Given the description of an element on the screen output the (x, y) to click on. 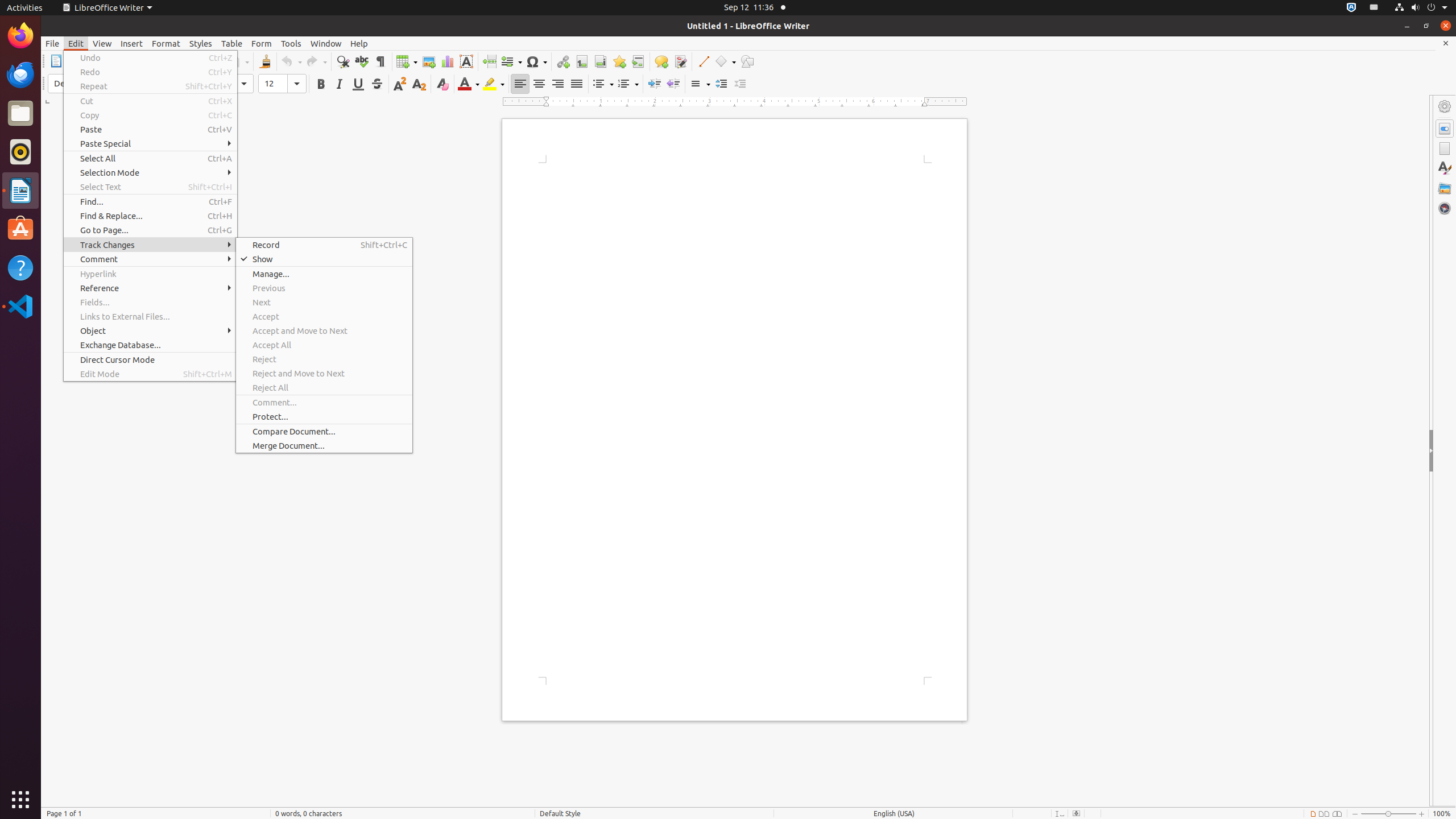
Paste Special Element type: menu (150, 143)
Select All Element type: menu-item (150, 158)
Track Changes Functions Element type: toggle-button (679, 61)
Numbering Element type: push-button (627, 83)
Select Text Element type: menu-item (150, 186)
